Given the description of an element on the screen output the (x, y) to click on. 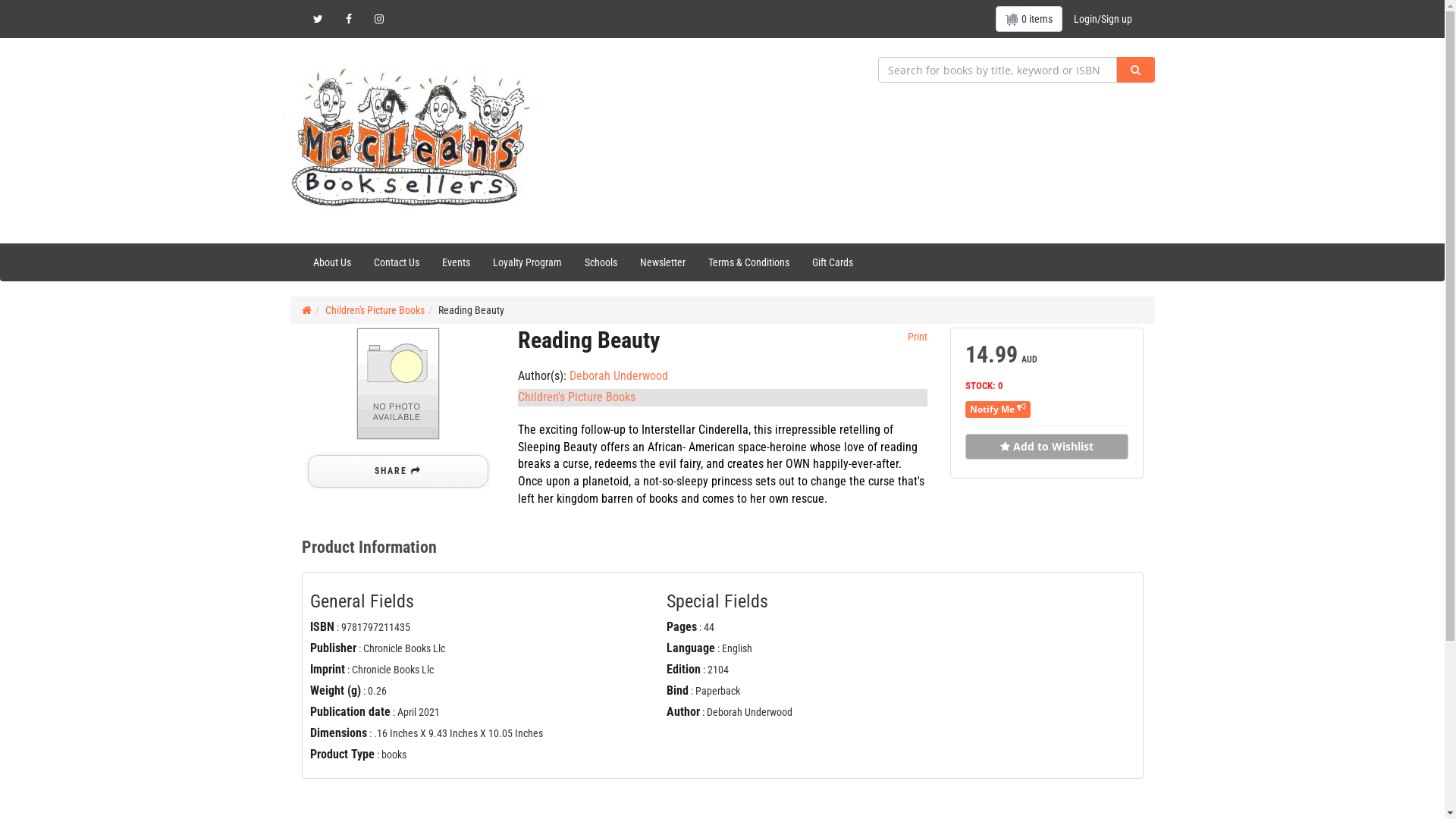
 Print Element type: text (916, 336)
Gift Cards Element type: text (832, 262)
Events Element type: text (455, 262)
Terms & Conditions Element type: text (748, 262)
0 items Element type: text (1027, 18)
Login/Sign up Element type: text (1101, 18)
Newsletter Element type: text (661, 262)
Schools Element type: text (600, 262)
Deborah Underwood Element type: text (617, 375)
About Us Element type: text (331, 262)
Loyalty Program Element type: text (526, 262)
Reading Beauty Element type: hover (397, 383)
Notify Me Element type: text (997, 409)
Contact Us Element type: text (396, 262)
SHARE Element type: text (397, 471)
0 items Element type: text (1027, 18)
Add to Wishlist Element type: text (1045, 446)
Children's Picture Books Element type: text (373, 310)
Children's Picture Books Element type: text (575, 396)
